Given the description of an element on the screen output the (x, y) to click on. 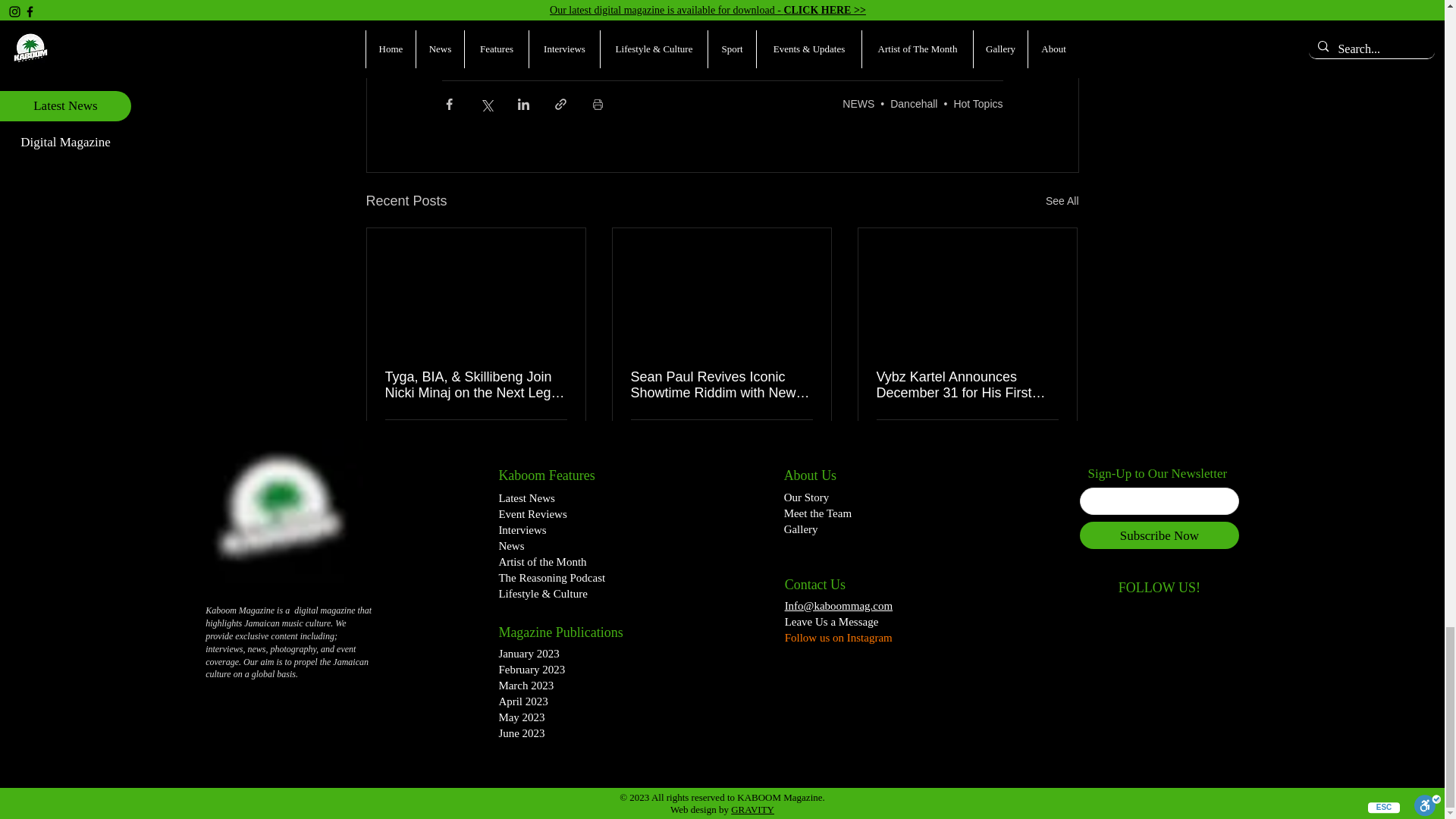
0 (397, 438)
NEWS (859, 103)
Dancehall (913, 103)
Stay Clean (665, 11)
0 (643, 438)
See All (1061, 201)
Hot Topics (978, 103)
Tommy Lee Sparta (568, 11)
